Given the description of an element on the screen output the (x, y) to click on. 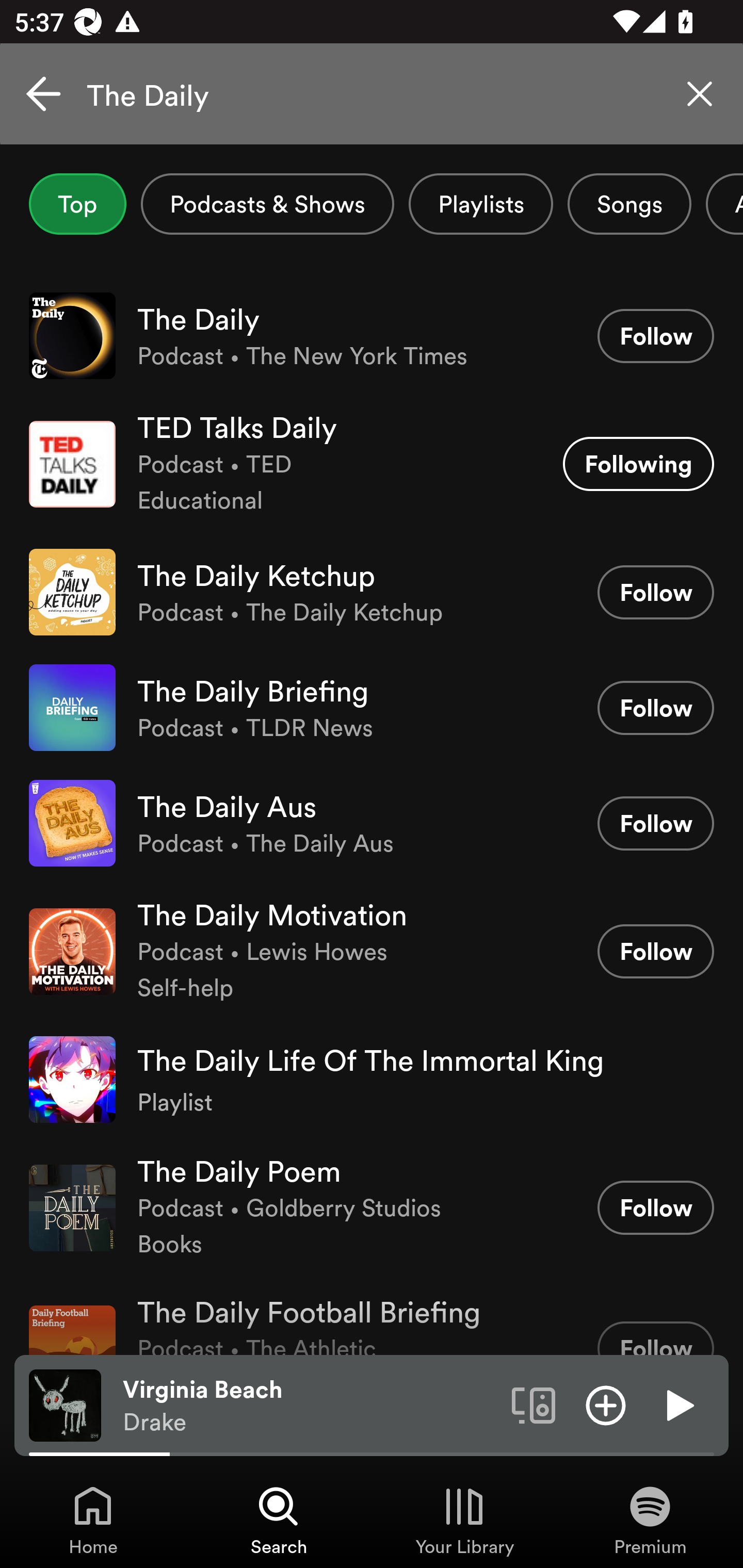
The Daily (371, 93)
Cancel (43, 93)
Clear search query (699, 93)
Top (77, 203)
Podcasts & Shows (267, 203)
Playlists (480, 203)
Songs (629, 203)
Follow (655, 335)
Following Unfollow (638, 463)
Follow (655, 592)
Follow (655, 707)
Follow (655, 822)
Follow (655, 950)
The Daily Life Of The Immortal King Playlist (371, 1079)
Follow (655, 1207)
Follow (655, 1337)
Virginia Beach Drake (309, 1405)
The cover art of the currently playing track (64, 1404)
Connect to a device. Opens the devices menu (533, 1404)
Add item (605, 1404)
Play (677, 1404)
Home, Tab 1 of 4 Home Home (92, 1519)
Search, Tab 2 of 4 Search Search (278, 1519)
Your Library, Tab 3 of 4 Your Library Your Library (464, 1519)
Premium, Tab 4 of 4 Premium Premium (650, 1519)
